Given the description of an element on the screen output the (x, y) to click on. 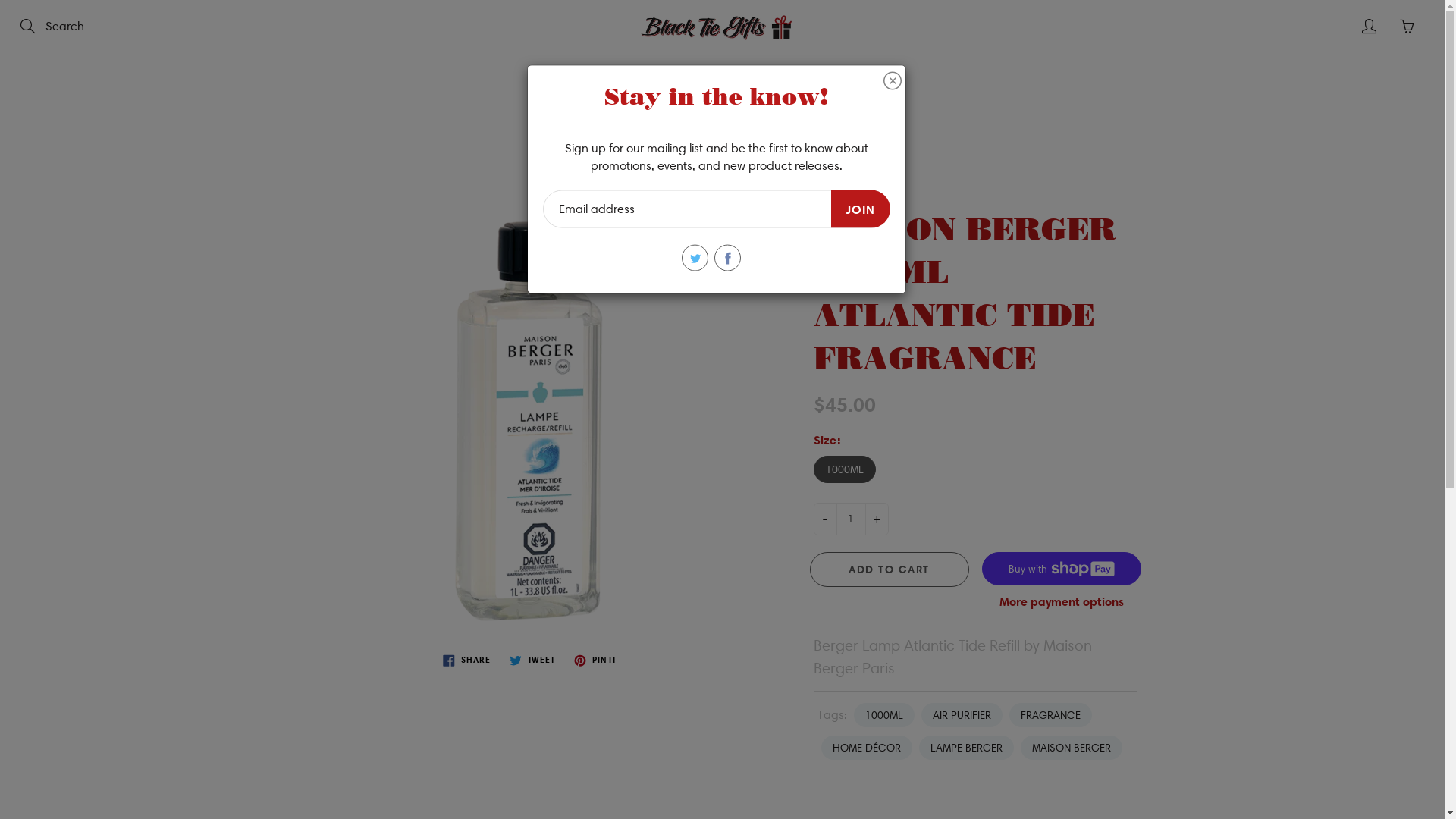
AIR PURIFIER Element type: text (960, 714)
SHOP Element type: text (755, 73)
ADD TO CART Element type: text (889, 569)
Twitter Element type: hover (694, 257)
Home Element type: text (577, 138)
MAISON BERGER Element type: text (1071, 747)
More payment options Element type: text (1061, 601)
- Element type: text (825, 518)
FRAGRANCE Element type: text (1049, 714)
MAISON BERGER 1000ML ATLANTIC TIDE FRAGRANCE Element type: hover (531, 395)
LAMPE BERGER Element type: text (966, 747)
PIN IT Element type: text (594, 659)
TWEET Element type: text (532, 659)
JOIN Element type: text (860, 208)
Search Element type: text (28, 26)
You have 0 items in your cart Element type: text (1406, 26)
HOME Element type: text (678, 73)
Facebook Element type: hover (727, 257)
My account Element type: text (1368, 26)
1000ML Element type: text (883, 714)
SHARE Element type: text (465, 659)
+ Element type: text (877, 518)
